Given the description of an element on the screen output the (x, y) to click on. 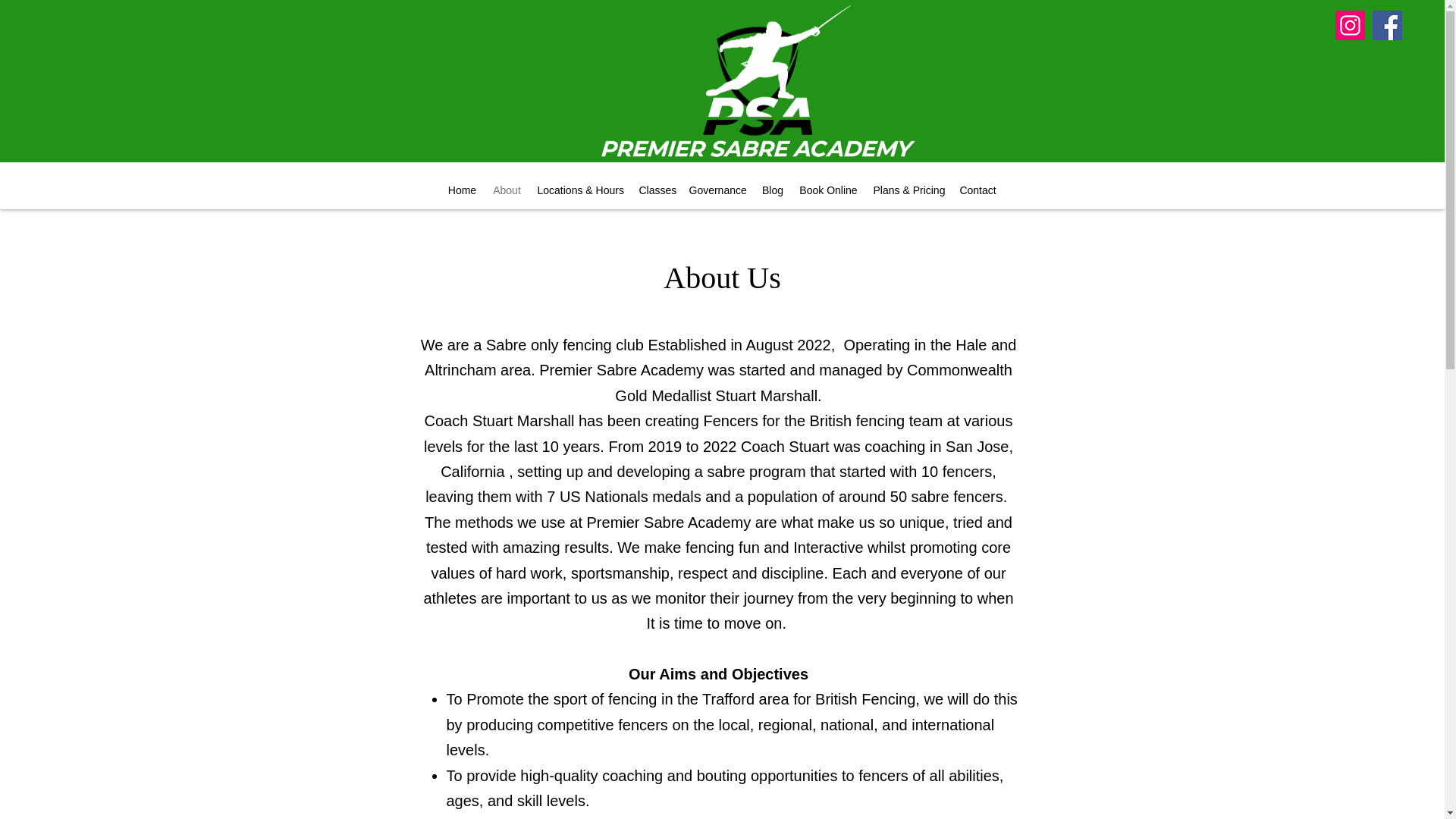
Blog (772, 190)
Book Online (829, 190)
Home (461, 190)
Contact (977, 190)
Classes (655, 190)
Governance (717, 190)
About (506, 190)
